Given the description of an element on the screen output the (x, y) to click on. 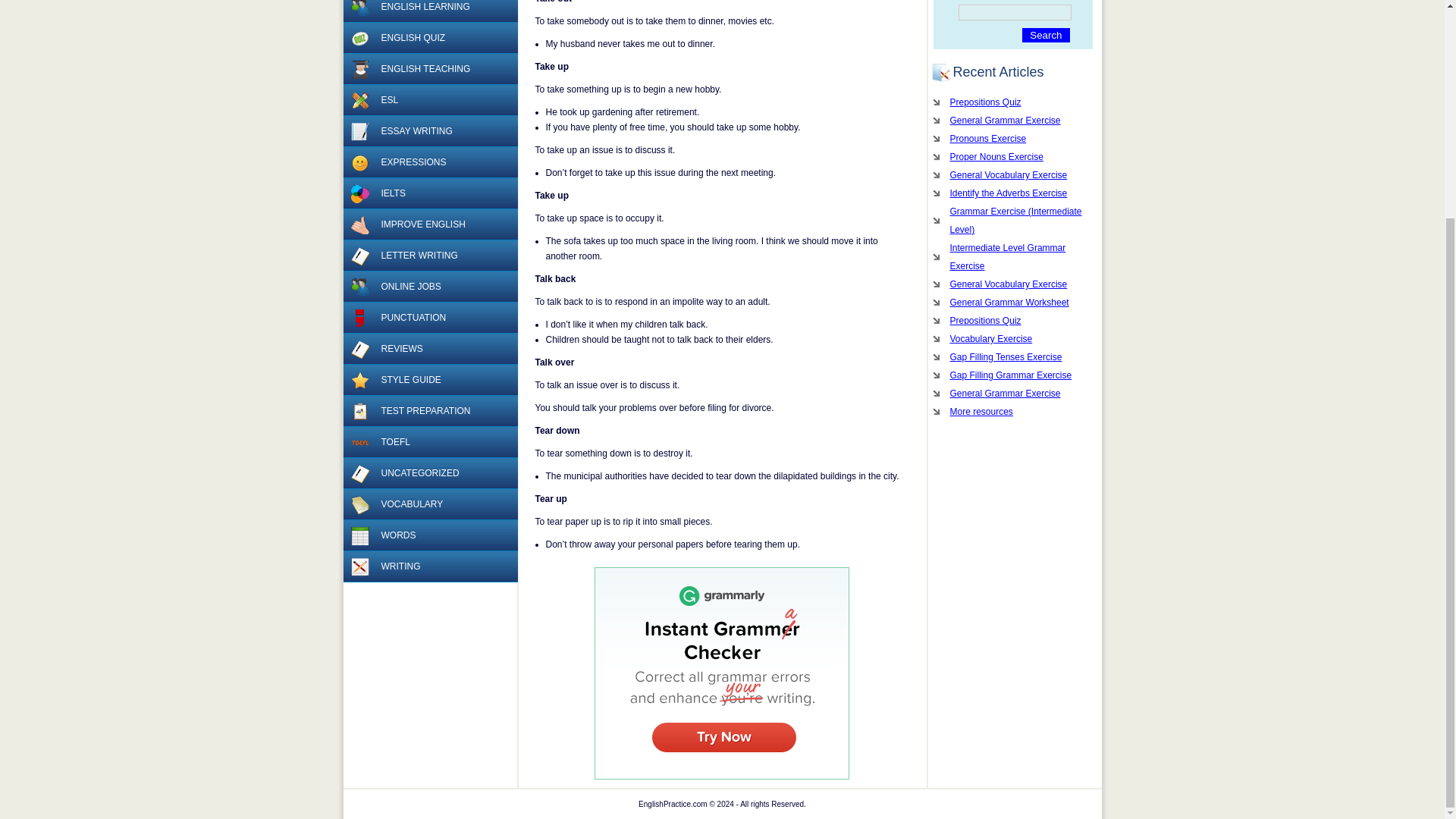
English Quiz (359, 38)
ENGLISH QUIZ (429, 38)
VOCABULARY (429, 504)
English Learning (359, 8)
IMPROVE ENGLISH (429, 224)
EXPRESSIONS (429, 162)
Expressions (359, 162)
ESL (359, 100)
LETTER WRITING (429, 255)
ENGLISH TEACHING (429, 69)
